Given the description of an element on the screen output the (x, y) to click on. 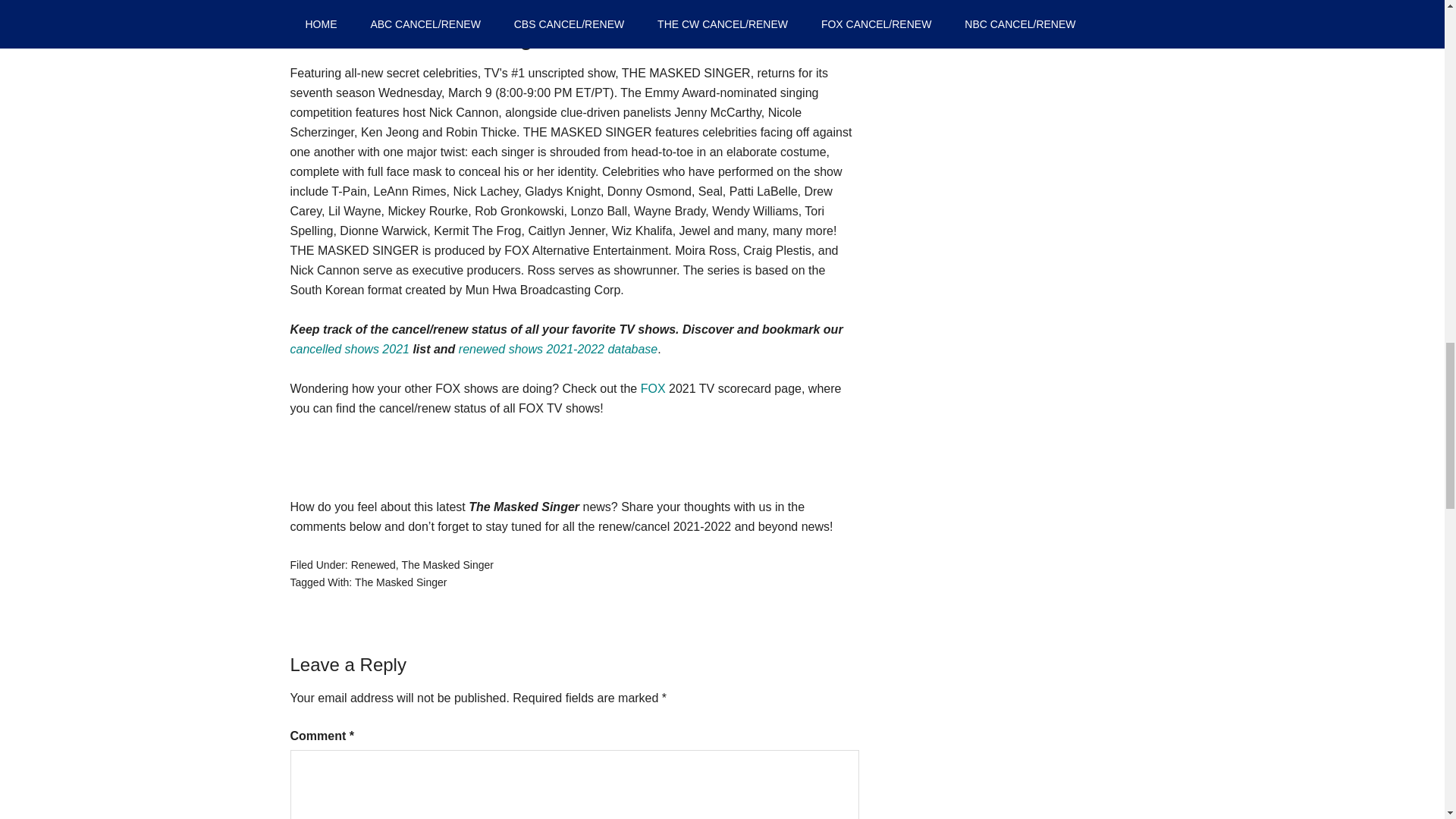
The Masked Singer (447, 564)
FOX (652, 388)
The Masked Singer (400, 582)
renewed shows 2021-2022 database (558, 349)
cancelled shows 2021 (349, 349)
Renewed (373, 564)
